Given the description of an element on the screen output the (x, y) to click on. 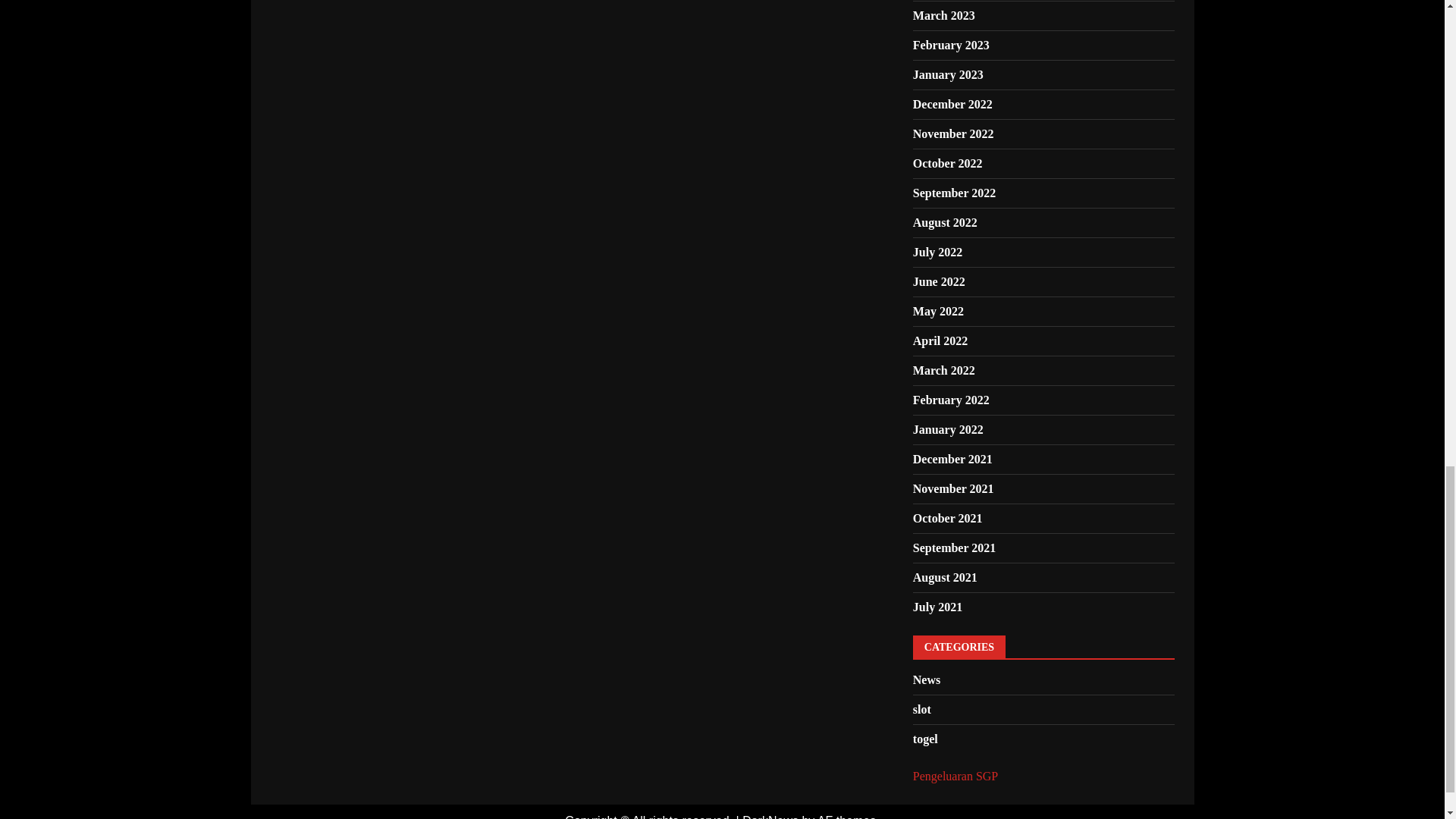
March 2023 (943, 15)
February 2023 (951, 44)
January 2023 (948, 74)
